Given the description of an element on the screen output the (x, y) to click on. 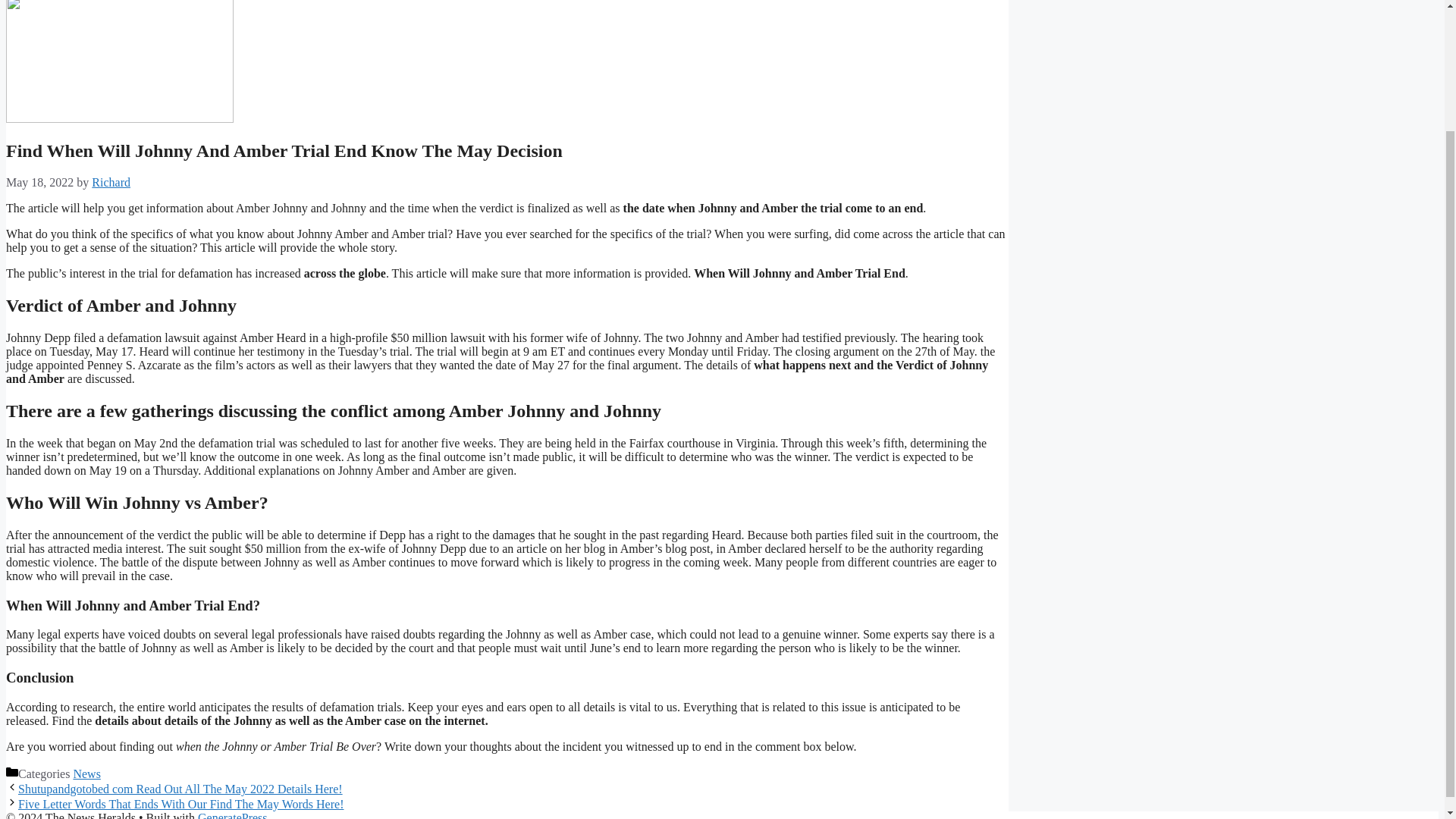
News (86, 773)
Richard (111, 182)
View all posts by Richard (111, 182)
Shutupandgotobed com Read Out All The May 2022 Details Here! (179, 788)
